Given the description of an element on the screen output the (x, y) to click on. 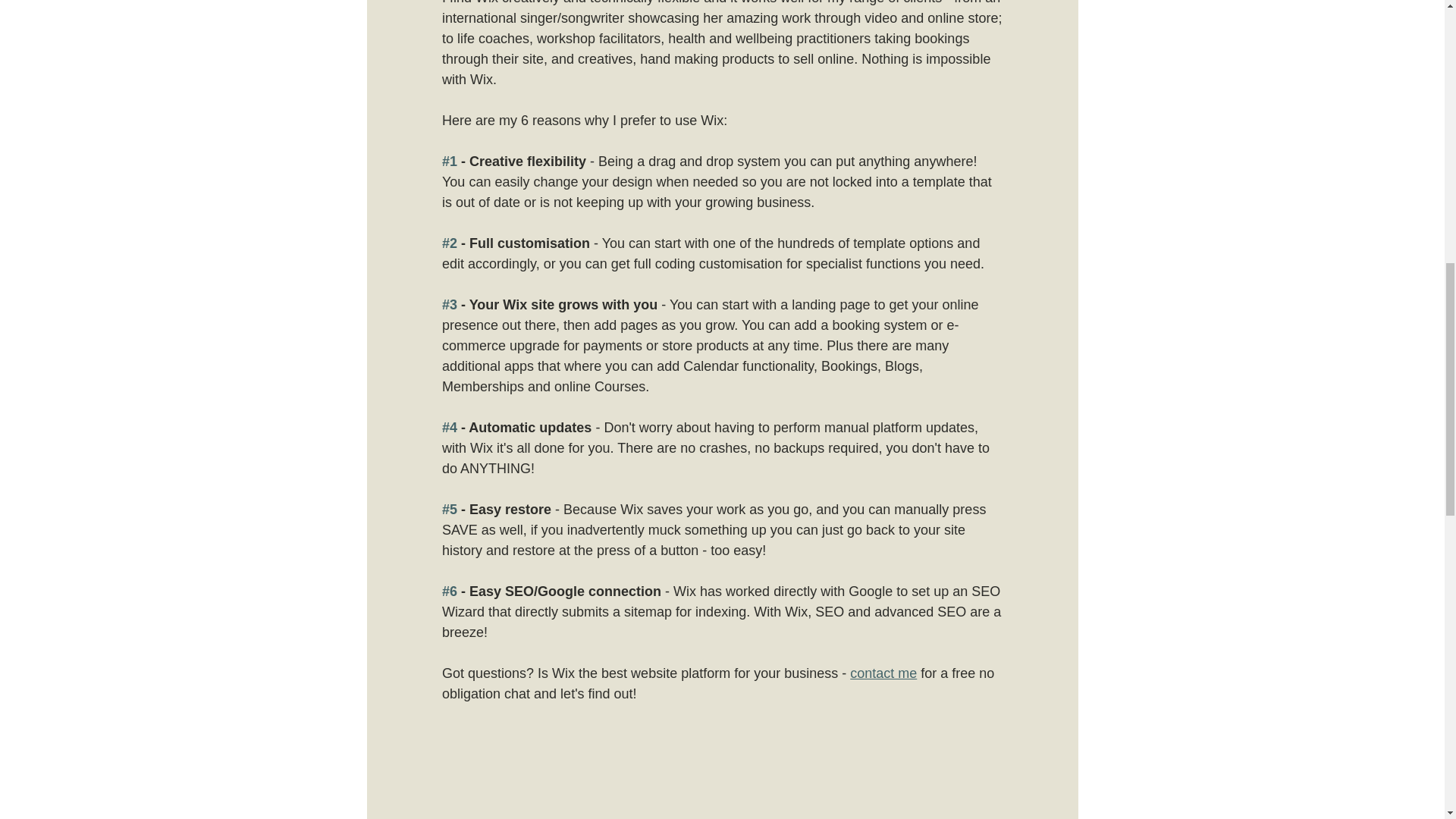
contact me (883, 672)
